Given the description of an element on the screen output the (x, y) to click on. 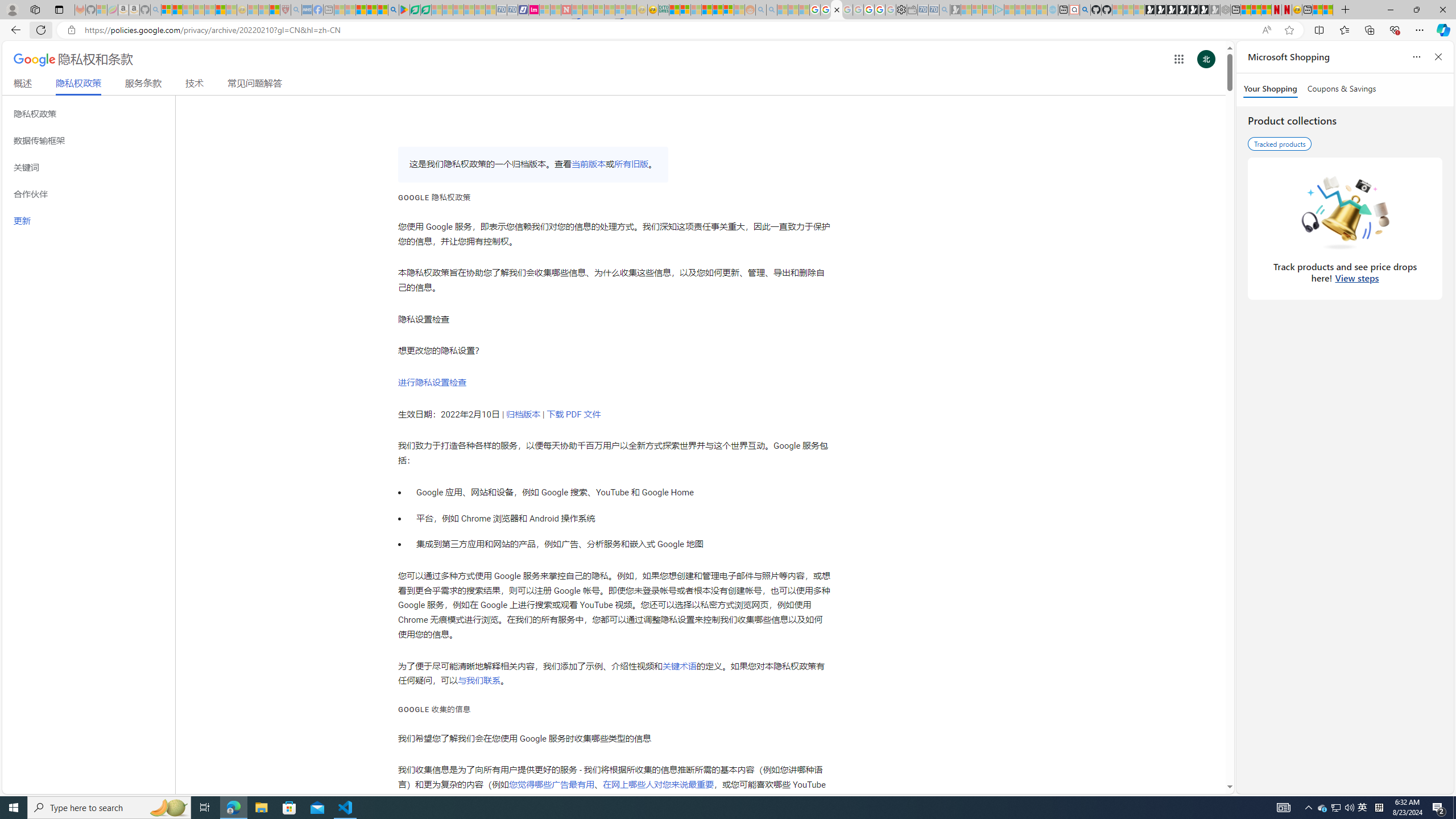
Pets - MSN (371, 9)
